Given the description of an element on the screen output the (x, y) to click on. 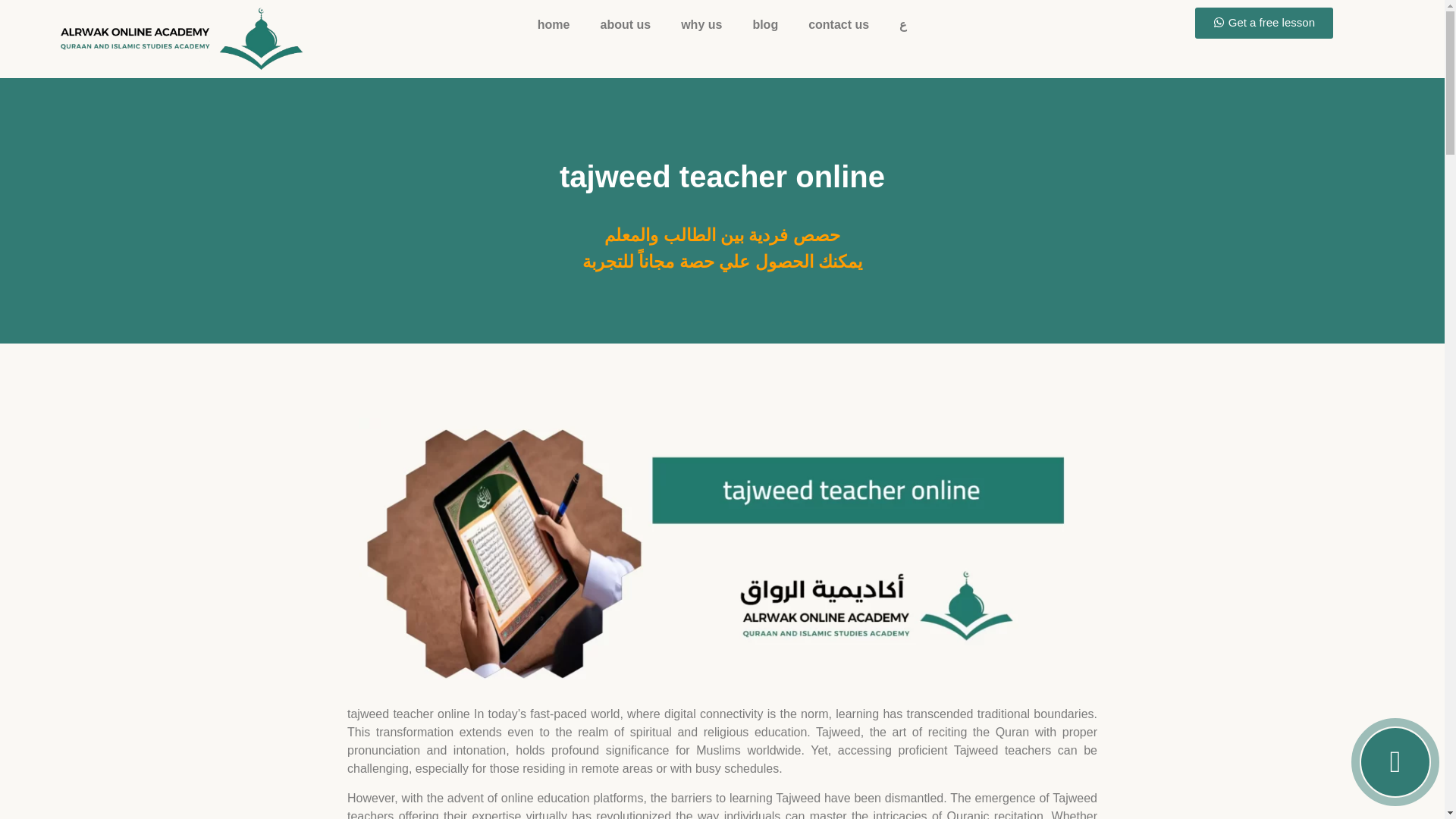
contact us (838, 24)
why us (700, 24)
blog (764, 24)
Get a free lesson (1264, 22)
about us (625, 24)
home (553, 24)
tajweed teacher online (722, 176)
